Given the description of an element on the screen output the (x, y) to click on. 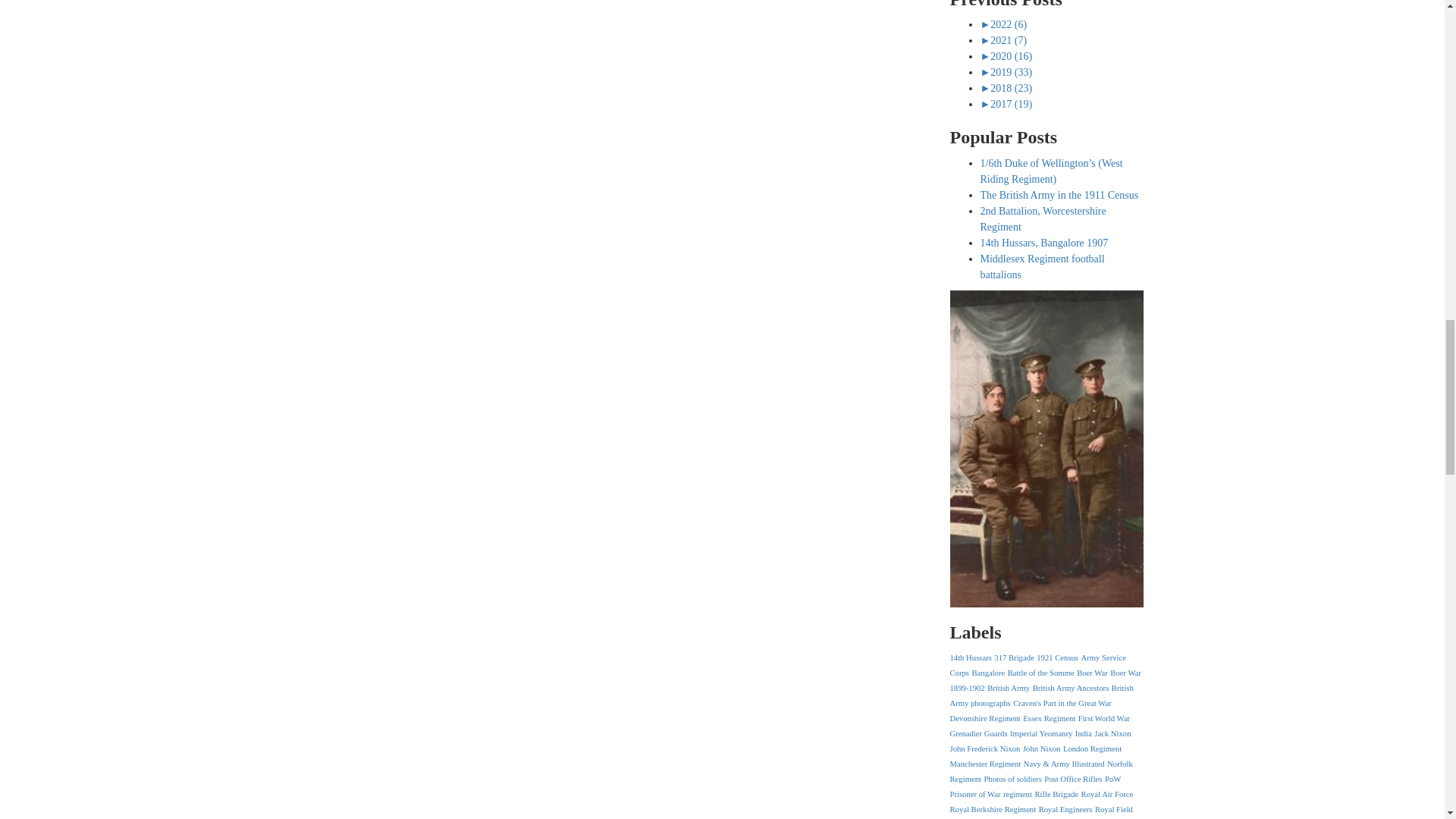
2021 (1002, 40)
2022 (1002, 24)
